Given the description of an element on the screen output the (x, y) to click on. 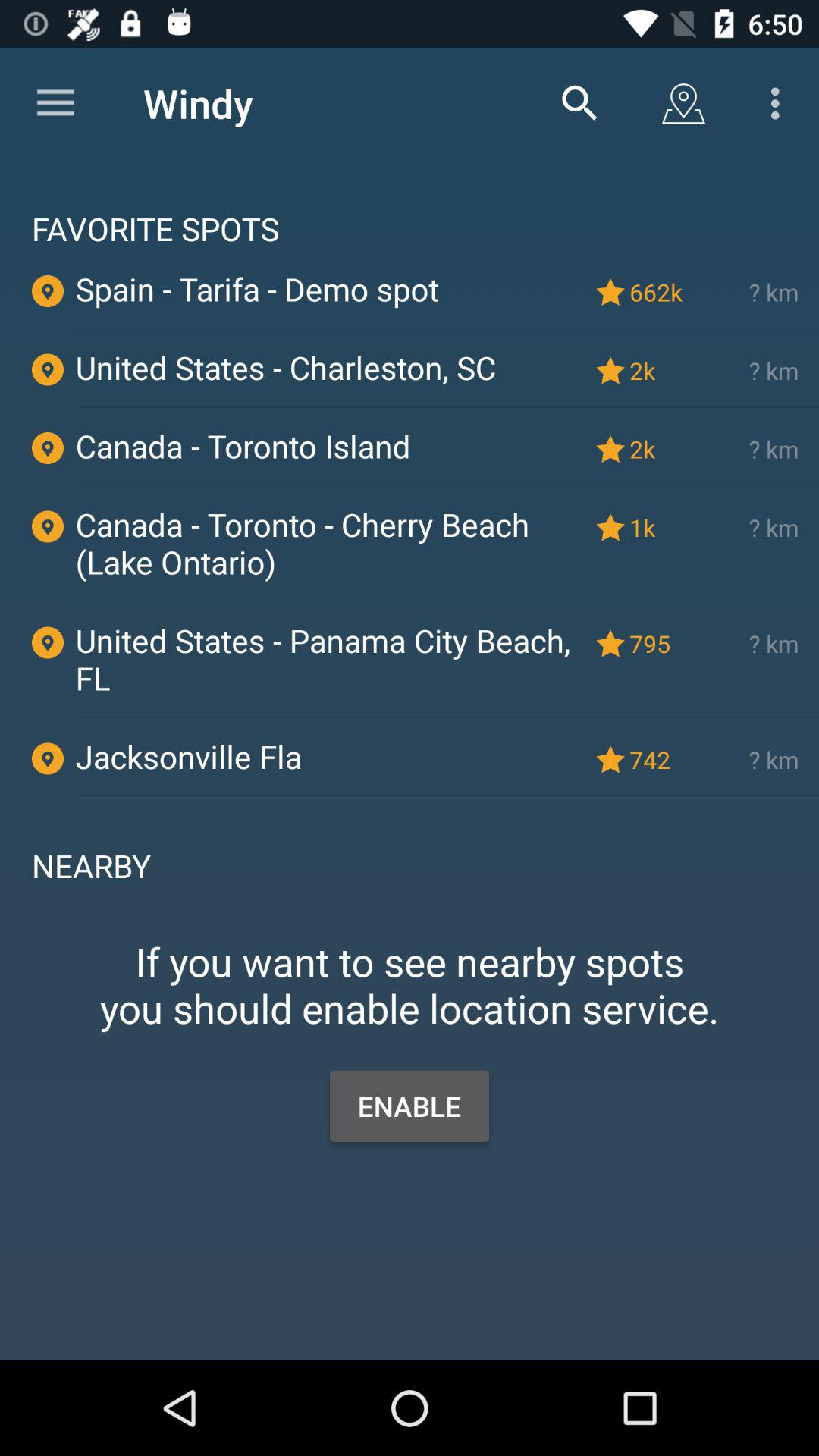
click 662k item (659, 291)
